Given the description of an element on the screen output the (x, y) to click on. 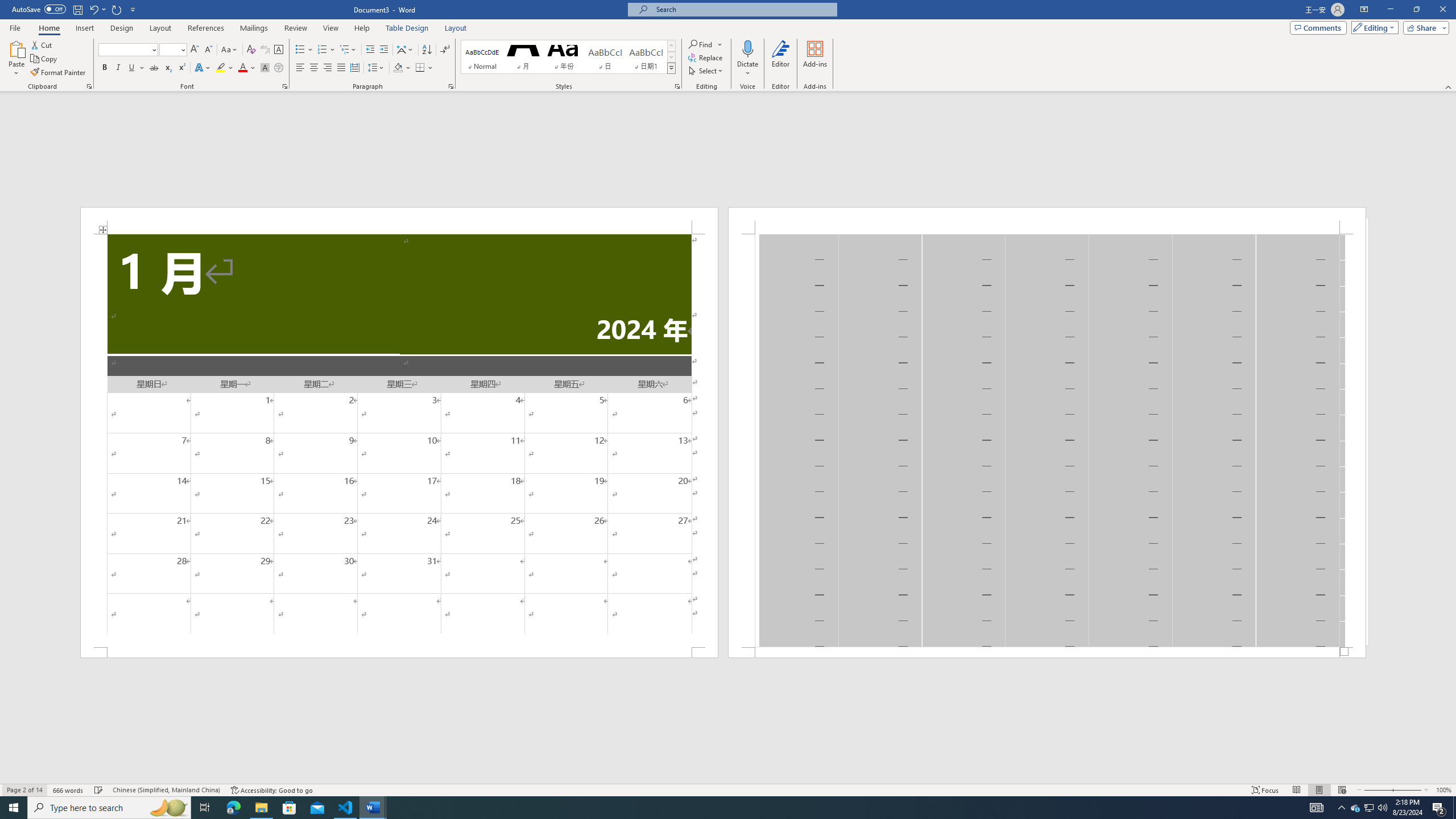
Cut (42, 44)
Office Clipboard... (88, 85)
Class: MsoCommandBar (728, 789)
Row Down (670, 56)
Sort... (426, 49)
Superscript (180, 67)
Undo Distribute Para (92, 9)
Show/Hide Editing Marks (444, 49)
Strikethrough (154, 67)
